Given the description of an element on the screen output the (x, y) to click on. 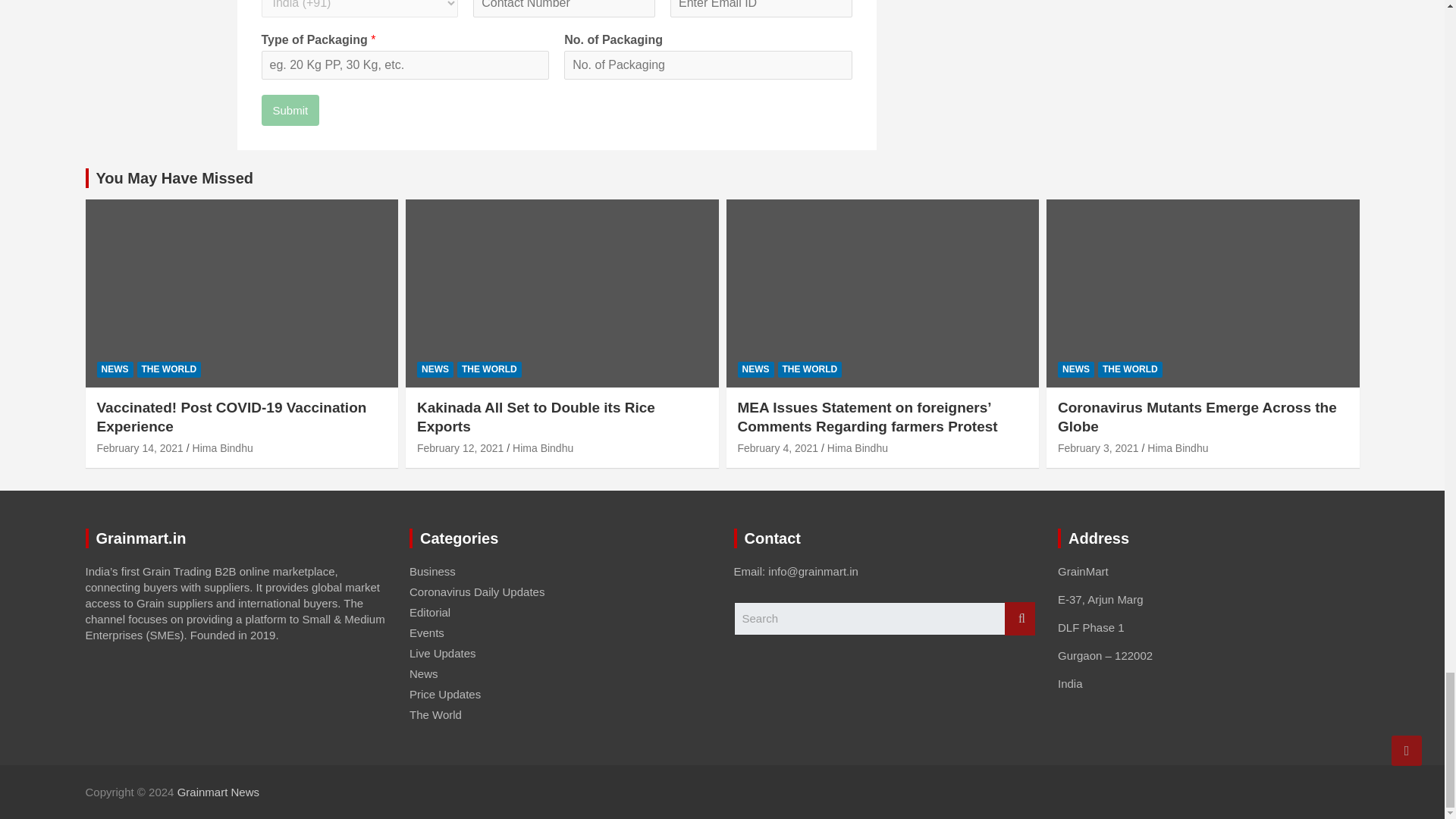
Coronavirus Mutants Emerge Across the Globe (1098, 448)
Vaccinated! Post COVID-19 Vaccination Experience (140, 448)
Grainmart News (218, 791)
Kakinada All Set to Double its Rice Exports (459, 448)
